Given the description of an element on the screen output the (x, y) to click on. 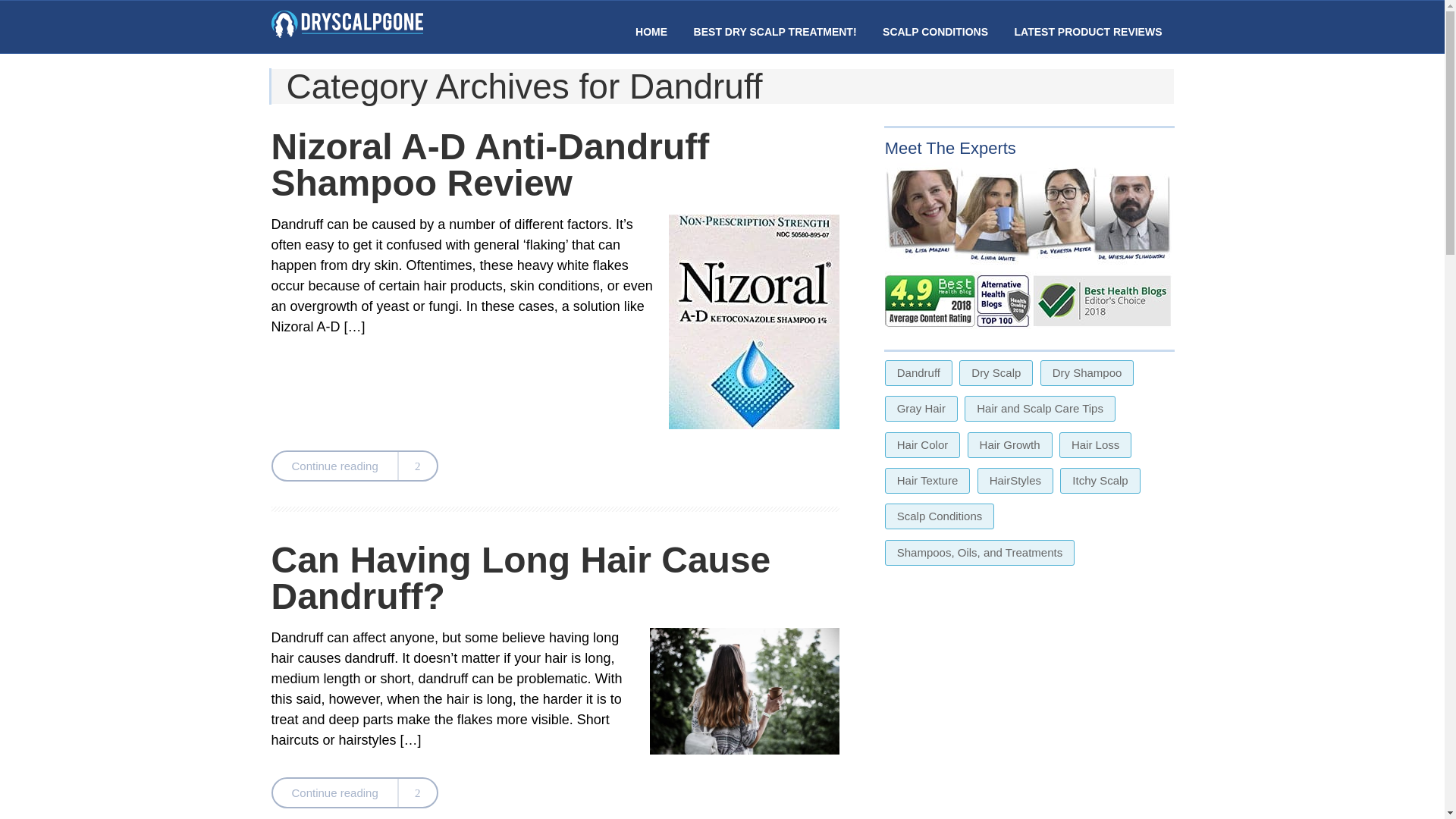
Hair Texture (928, 480)
Itchy Scalp (1099, 480)
thick hair causes dandruff (744, 691)
Shampoos, Oils, and Treatments (979, 552)
Hair and Scalp Care Tips (1039, 408)
Dandruff (918, 372)
Dry Scalp (995, 372)
HOME (650, 31)
Hair Loss (1095, 444)
SCALP CONDITIONS (935, 31)
Continue reading (354, 792)
Gray Hair (921, 408)
Nizoral A-D Anti-Dandruff Shampoo Review (490, 164)
Continue reading (354, 465)
Can Having Long Hair Cause Dandruff? (520, 577)
